Given the description of an element on the screen output the (x, y) to click on. 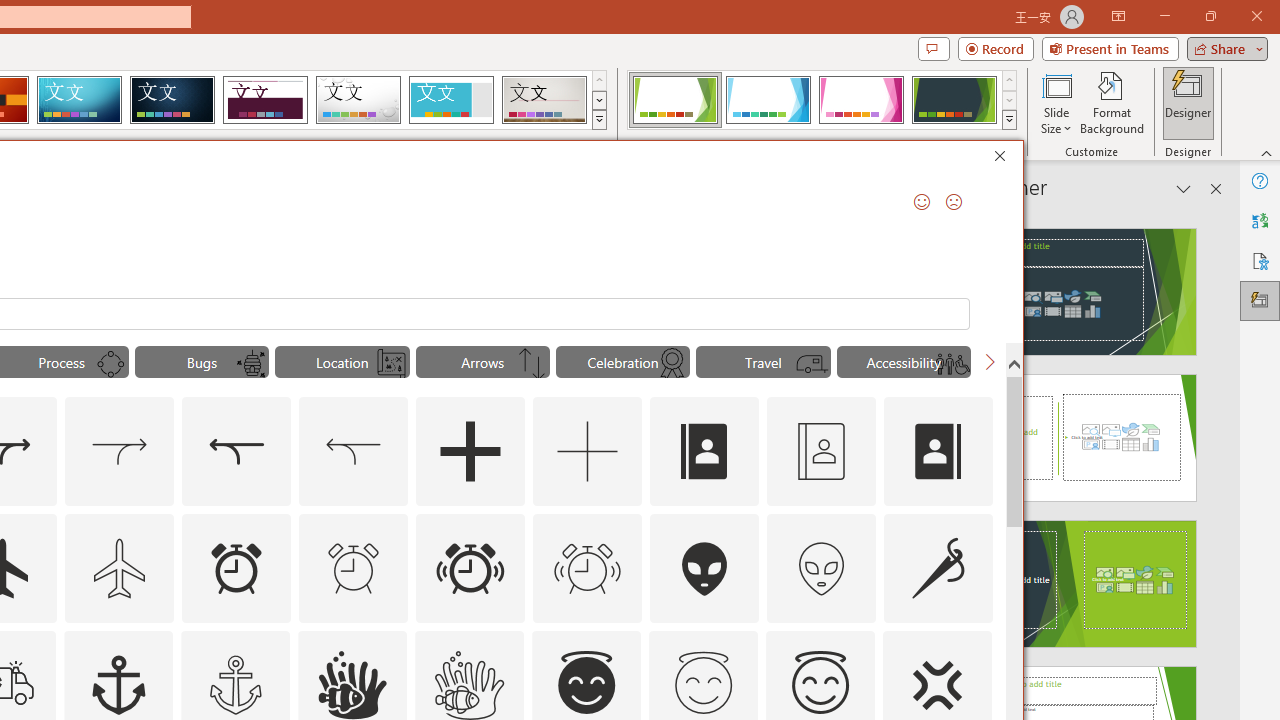
Format Background (1111, 102)
AutomationID: Icons_UniversalAccess_M (952, 364)
"Accessibility" Icons. (904, 362)
Variants (1009, 120)
Circuit (79, 100)
Facet Variant 1 (674, 100)
Gallery (544, 100)
"Location" Icons. (342, 362)
AutomationID: _134_Angel_Face_A (586, 682)
AutomationID: Icons_TreasureMap_M (391, 364)
Frame (450, 100)
